Given the description of an element on the screen output the (x, y) to click on. 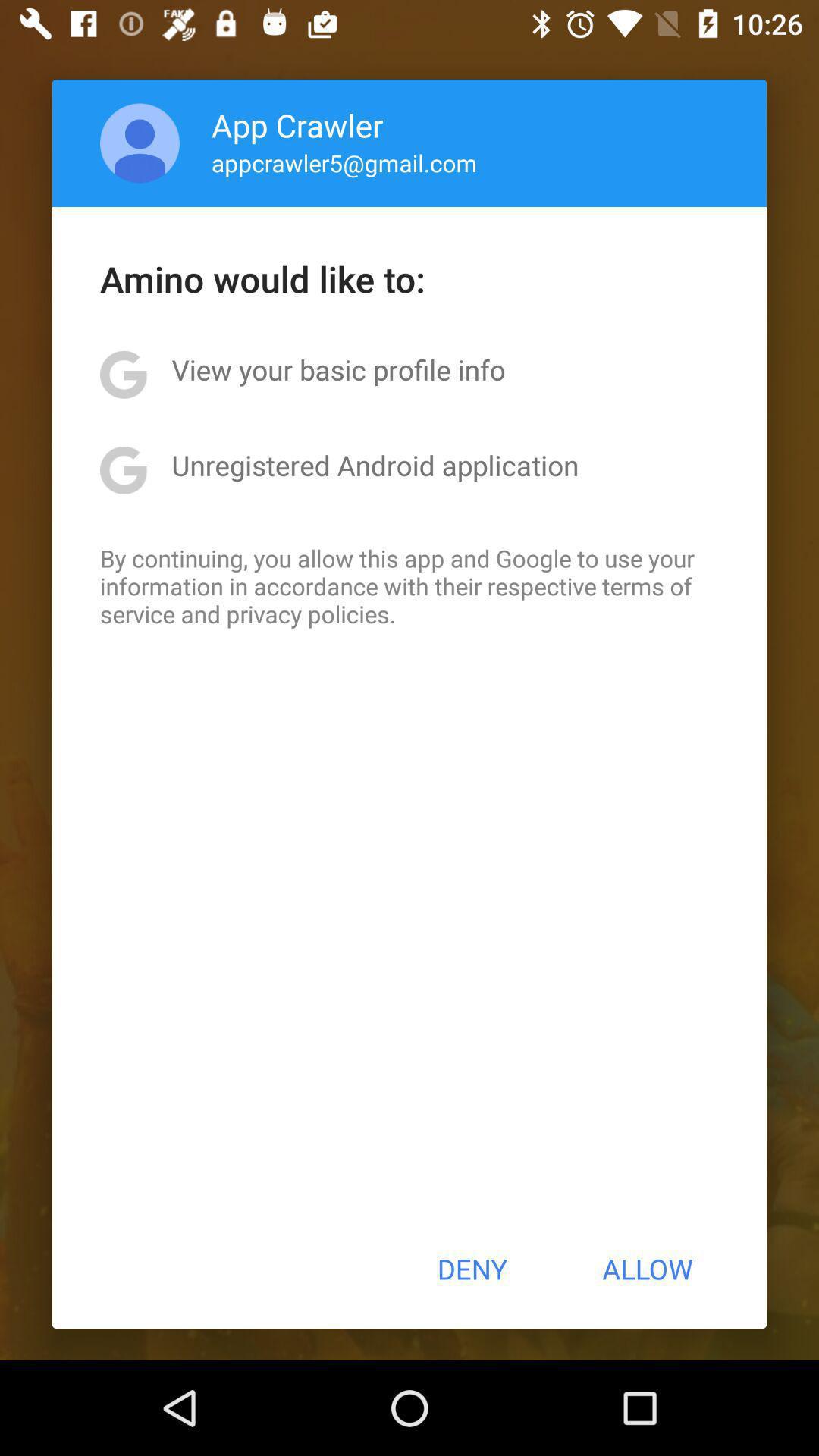
press the app above the amino would like item (344, 162)
